Given the description of an element on the screen output the (x, y) to click on. 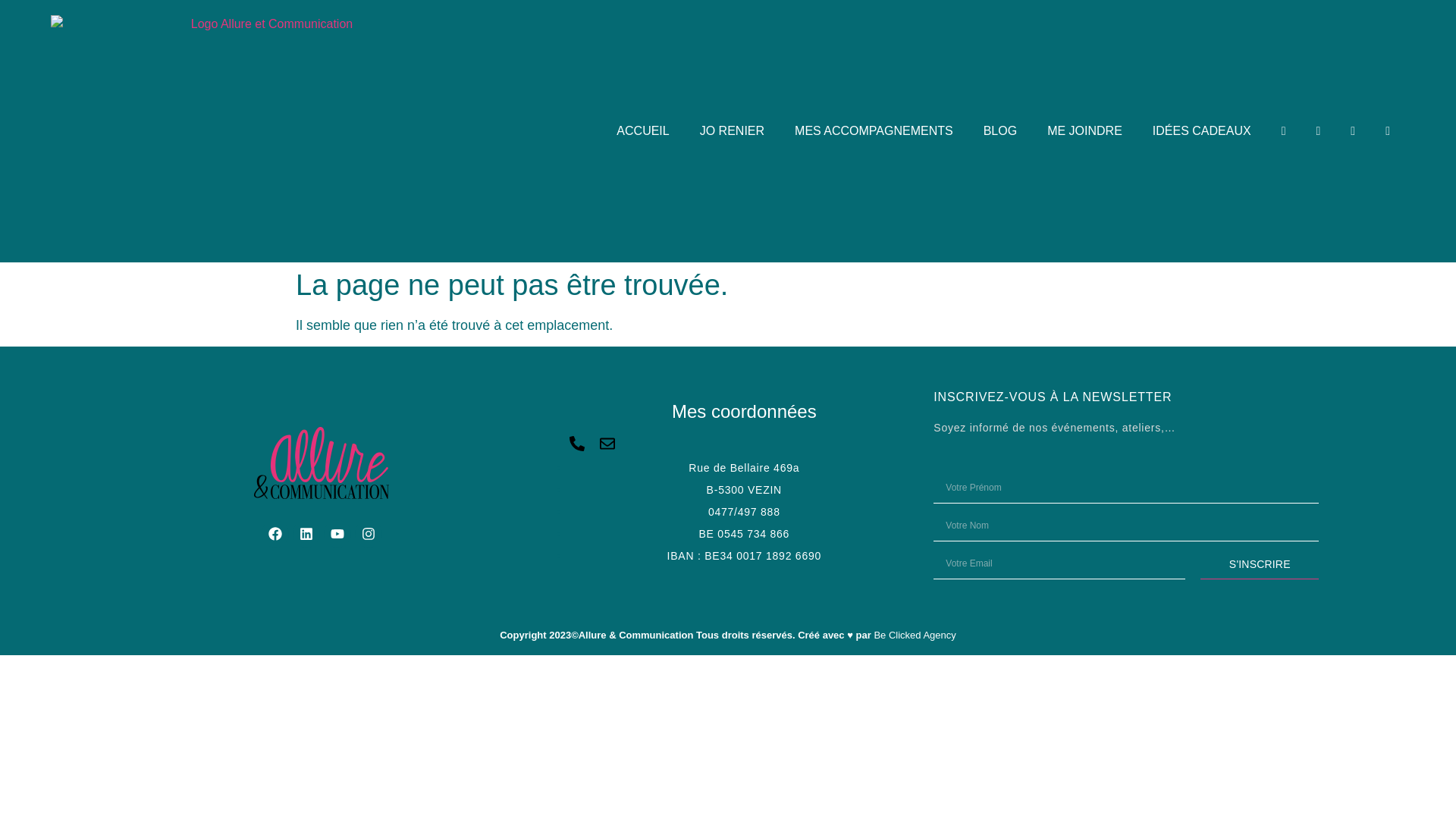
S'INSCRIRE Element type: text (1259, 564)
Be Clicked Agency Element type: text (914, 634)
ME JOINDRE Element type: text (1084, 130)
ACCUEIL Element type: text (642, 130)
BLOG Element type: text (1000, 130)
MES ACCOMPAGNEMENTS Element type: text (873, 130)
JO RENIER Element type: text (731, 130)
